Given the description of an element on the screen output the (x, y) to click on. 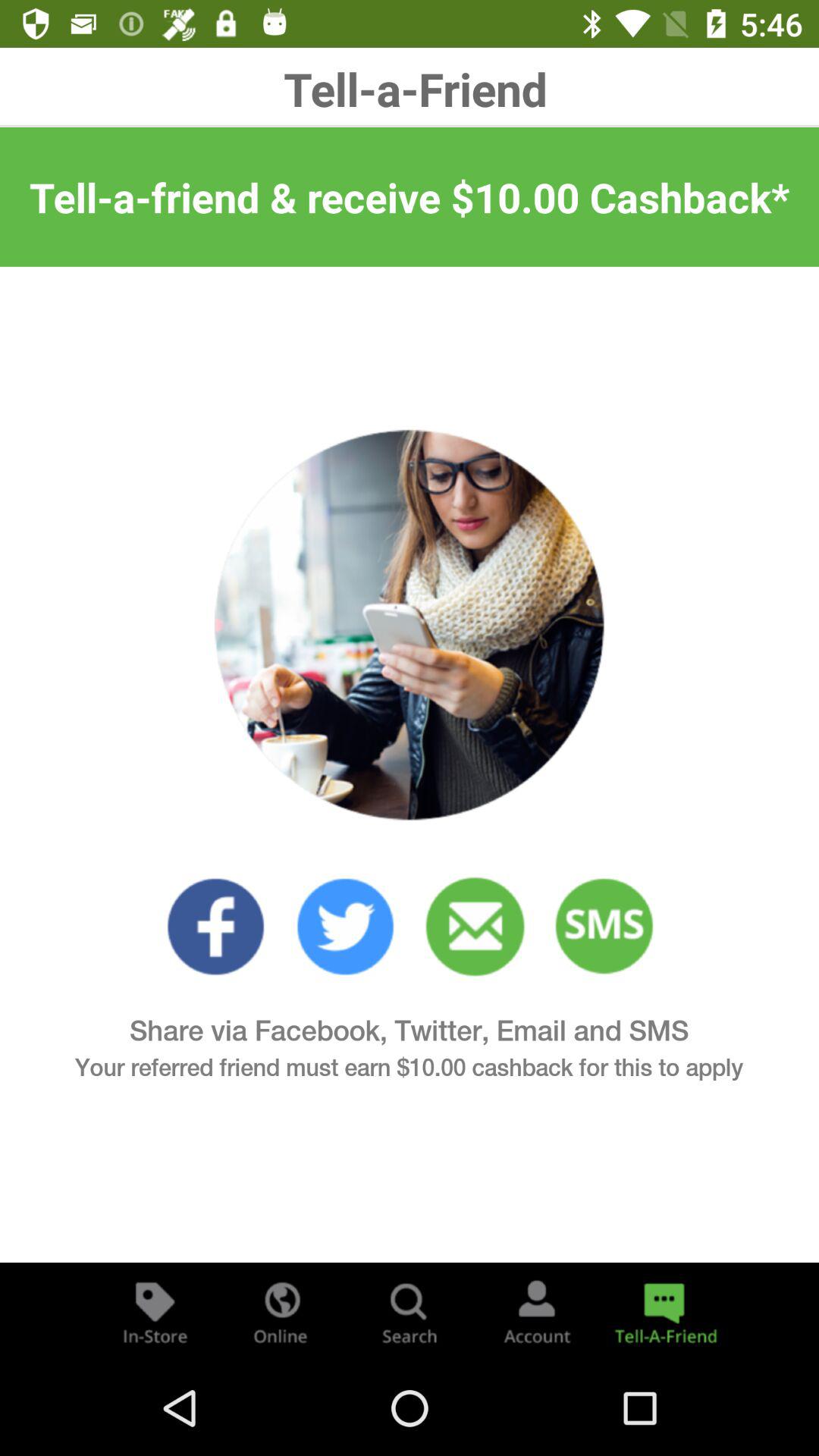
in side store the app (154, 1311)
